Given the description of an element on the screen output the (x, y) to click on. 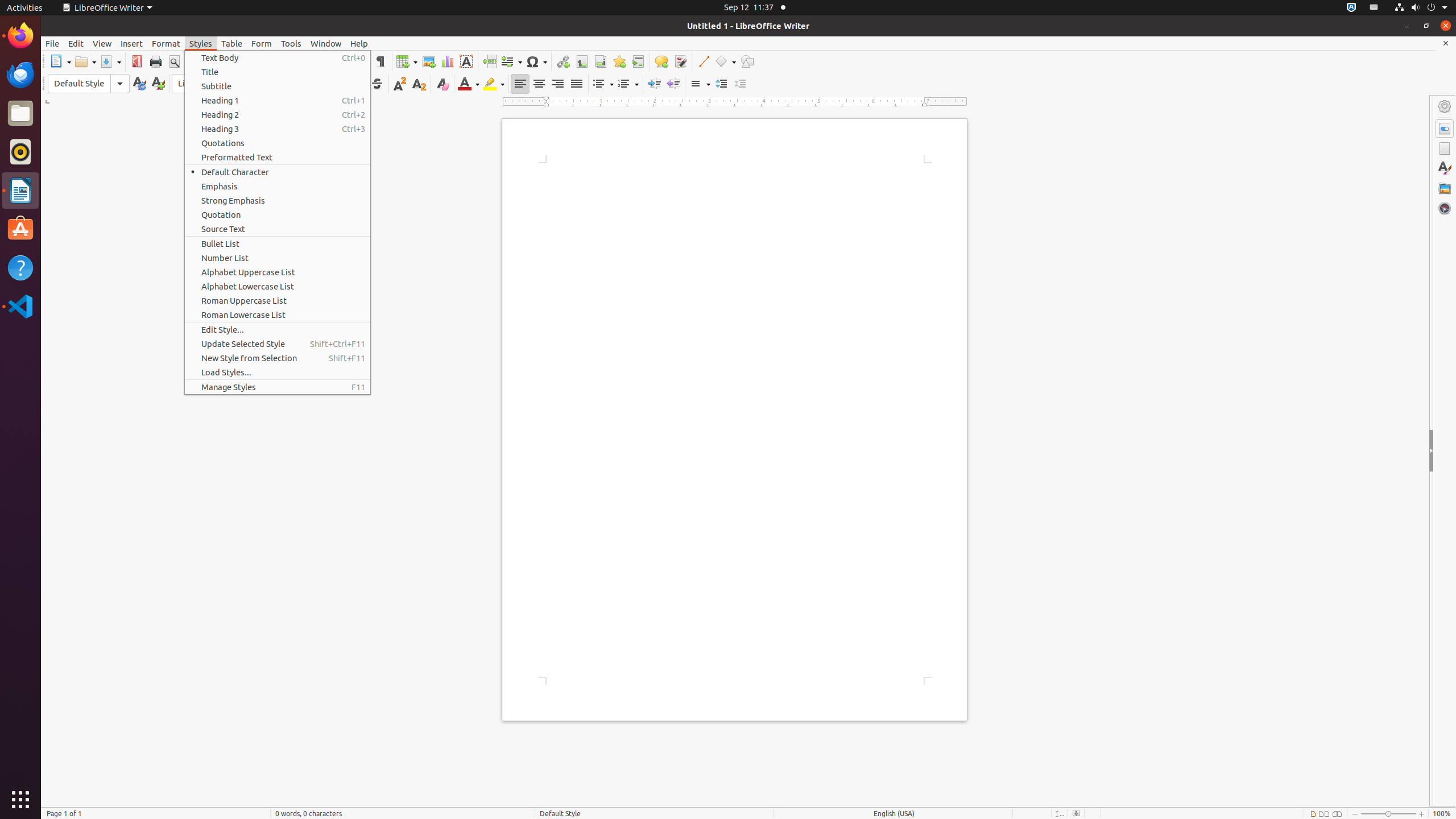
Page Break Element type: push-button (489, 61)
New Element type: push-button (157, 83)
Subscript Element type: toggle-button (418, 83)
Line Spacing Element type: push-button (699, 83)
Highlight Color Element type: push-button (493, 83)
